Given the description of an element on the screen output the (x, y) to click on. 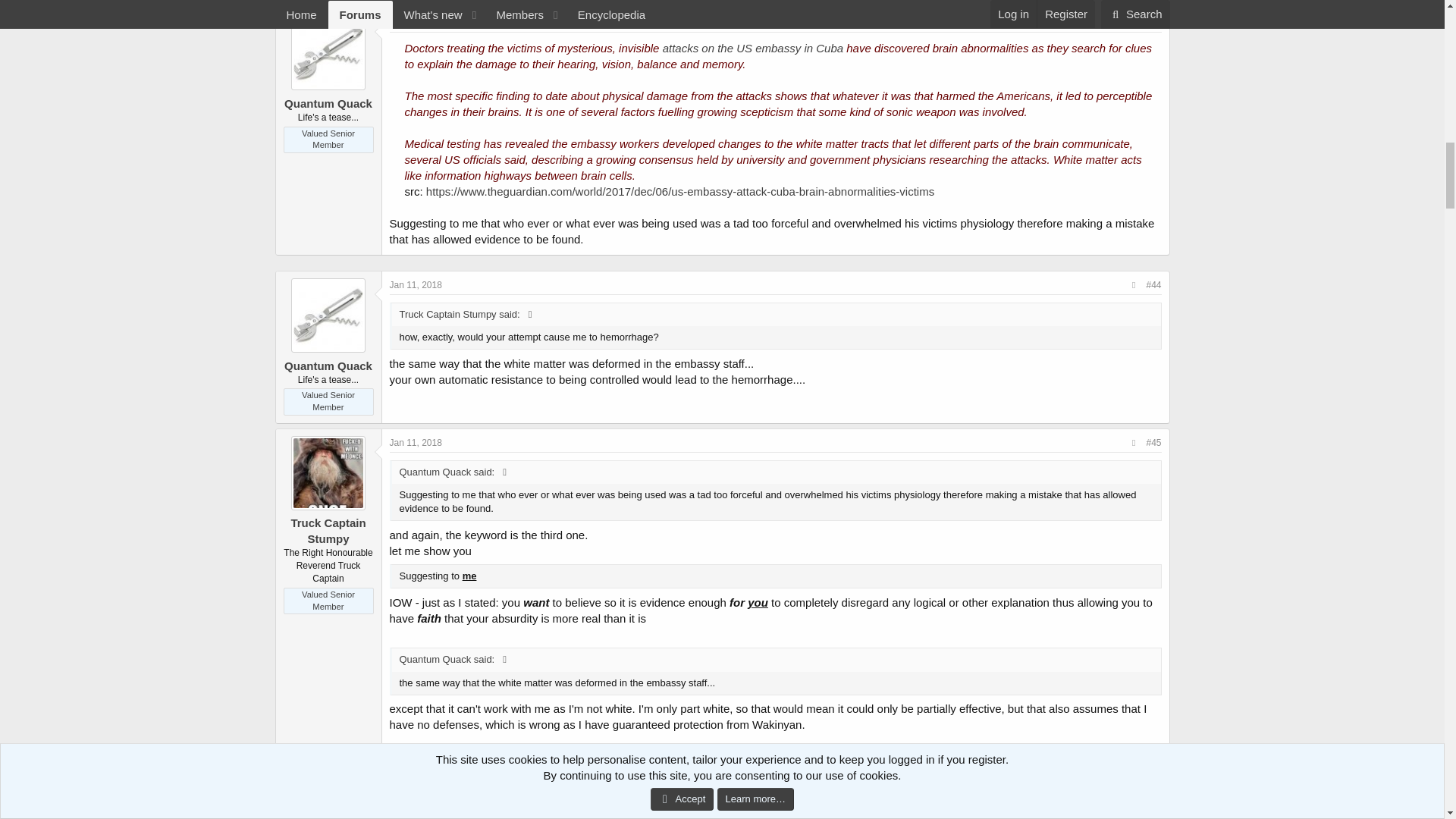
Jan 11, 2018 at 6:59 AM (416, 285)
Jan 11, 2018 at 6:52 AM (416, 22)
Jan 11, 2018 at 4:30 PM (416, 442)
